Given the description of an element on the screen output the (x, y) to click on. 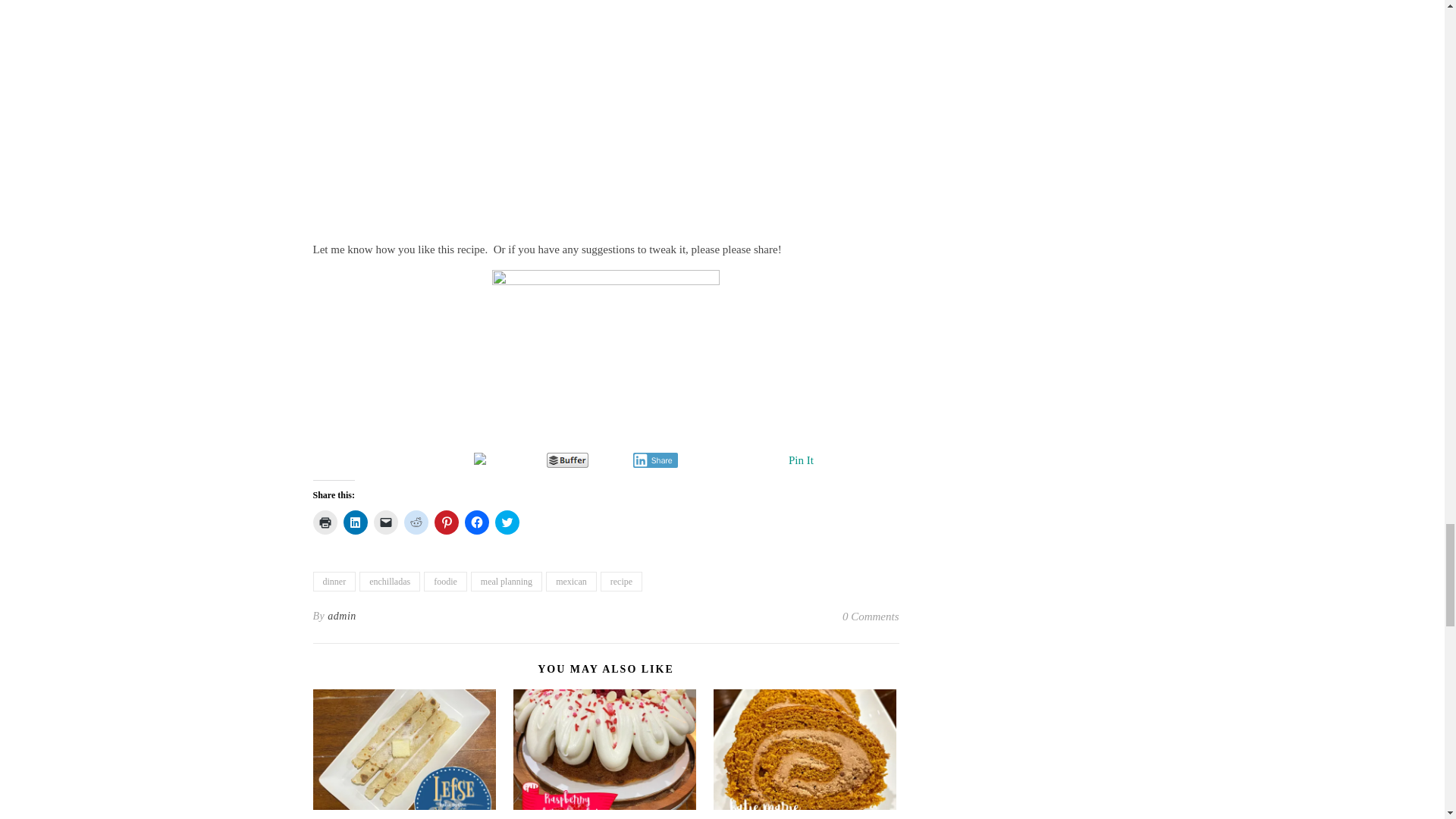
Click to share on Twitter (506, 522)
Click to share on Pinterest (445, 522)
Posts by admin (341, 616)
Pin It (801, 460)
Click to email a link to a friend (384, 522)
Click to share on LinkedIn (354, 522)
Click to share on Facebook (475, 522)
Share (655, 459)
Click to print (324, 522)
dinner (334, 581)
Click to share on Reddit (415, 522)
